Given the description of an element on the screen output the (x, y) to click on. 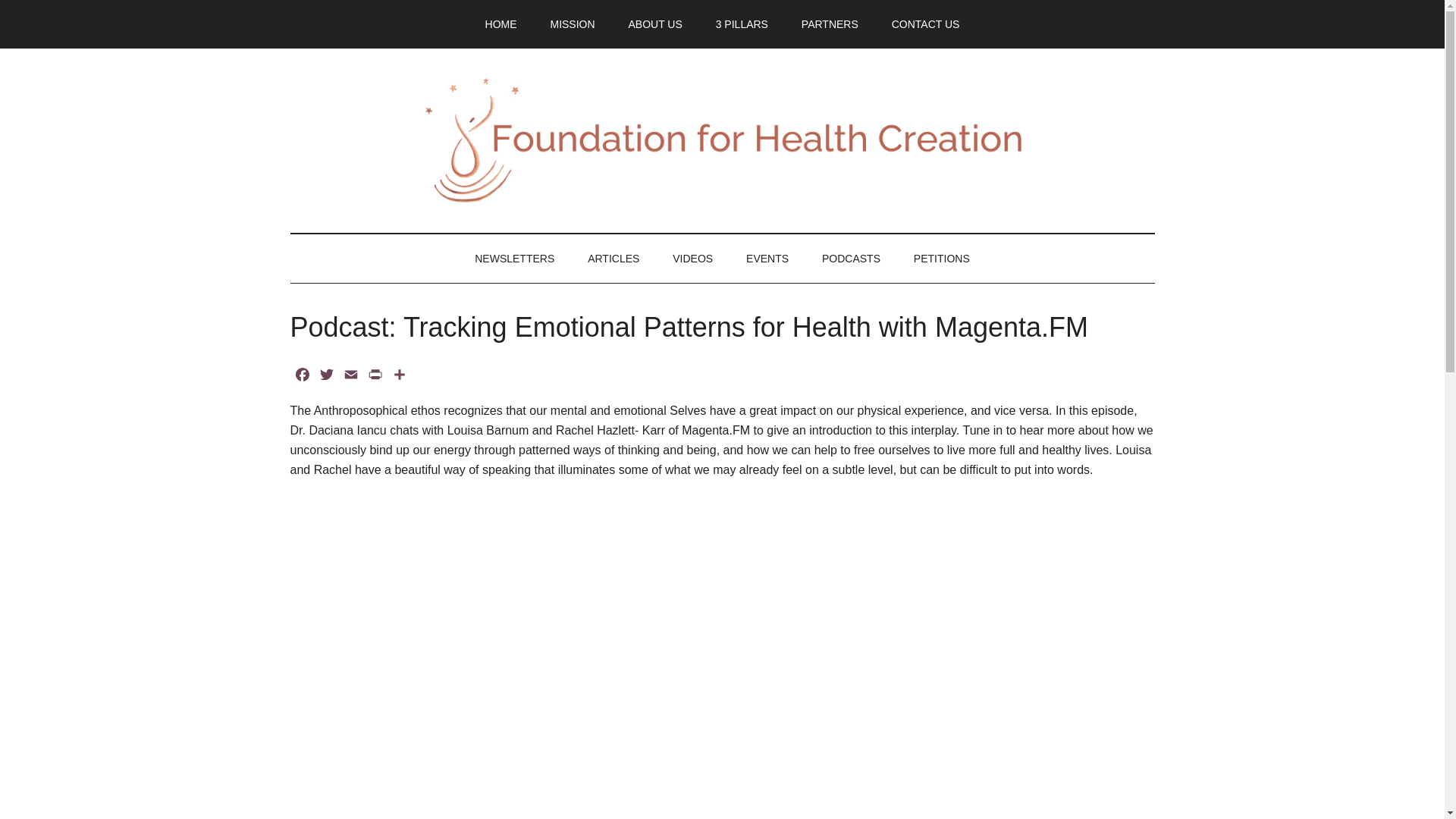
CONTACT US (925, 24)
Email (349, 377)
ABOUT US (654, 24)
NEWSLETTERS (514, 258)
MISSION (572, 24)
Email (349, 377)
PARTNERS (829, 24)
VIDEOS (693, 258)
ARTICLES (612, 258)
Facebook (301, 377)
PETITIONS (941, 258)
Facebook (301, 377)
PrintFriendly (374, 377)
